Given the description of an element on the screen output the (x, y) to click on. 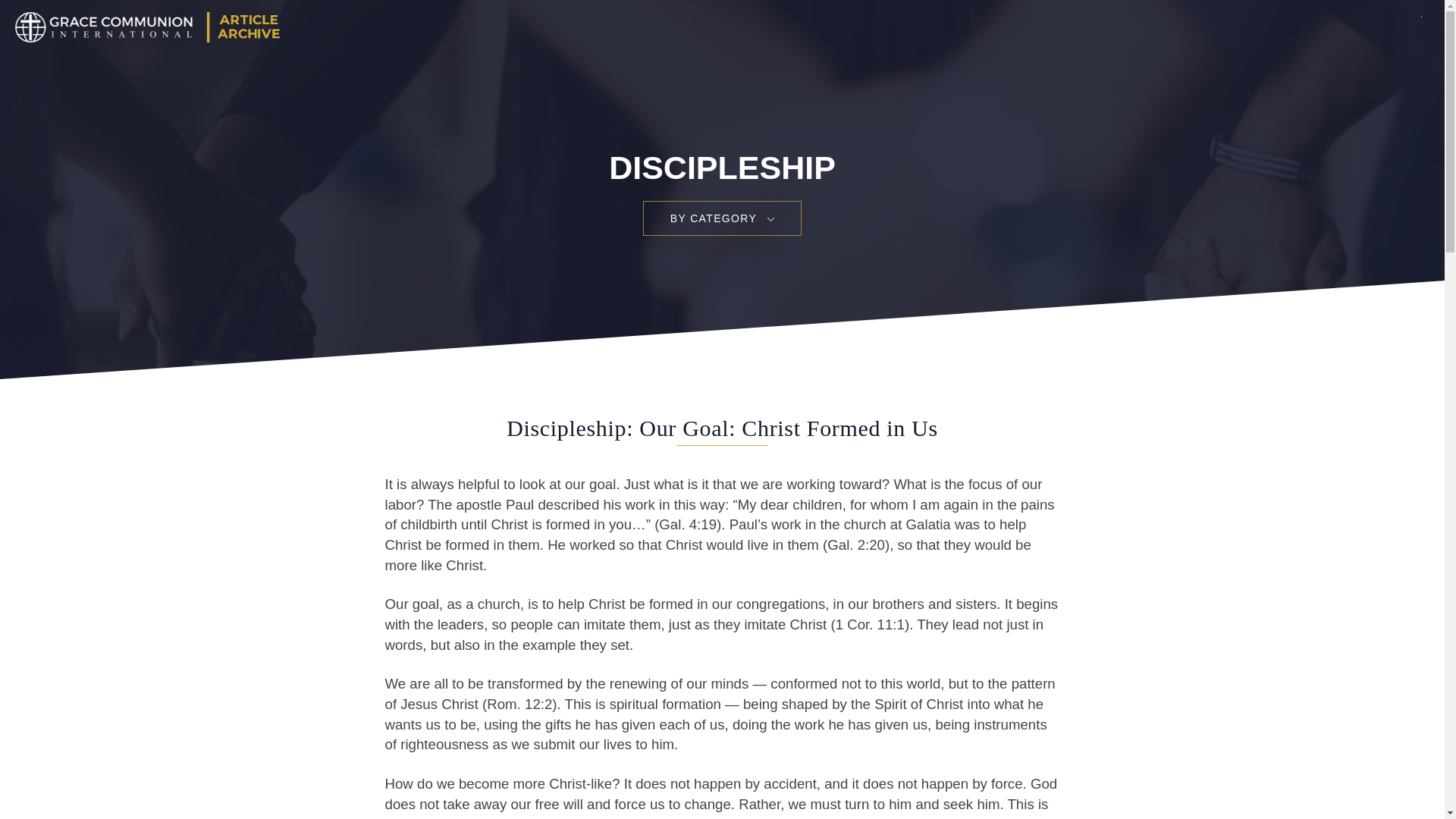
GCI Archive (144, 27)
